Given the description of an element on the screen output the (x, y) to click on. 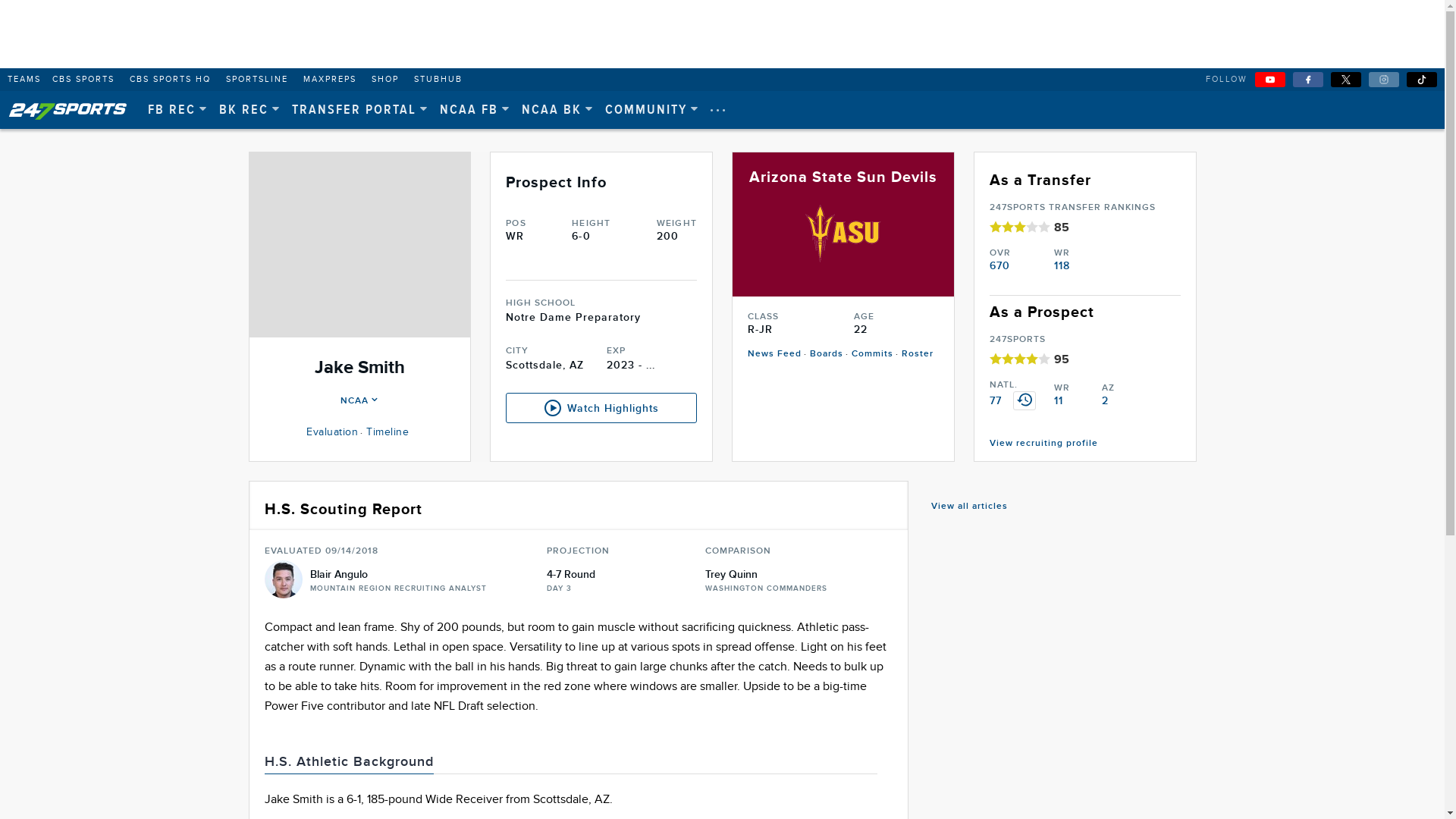
Boards Element type: text (826, 353)
2 Element type: text (1104, 400)
BlairAngulo Element type: hover (282, 579)
CBS SPORTS HQ Element type: text (169, 79)
NCAA FB Element type: text (475, 110)
MAXPREPS Element type: text (329, 79)
Trey Quinn Element type: text (766, 574)
118 Element type: text (1062, 265)
Commits Element type: text (872, 353)
Watch Highlights Element type: text (600, 407)
11 Element type: text (1058, 400)
NCAA Element type: text (359, 400)
Evaluation Element type: text (331, 431)
View all articles Element type: text (969, 505)
News Feed Element type: text (774, 353)
SHOP Element type: text (384, 79)
Timeline Element type: text (387, 431)
View recruiting profile Element type: text (1043, 442)
COMMUNITY Element type: text (651, 110)
FB REC Element type: text (177, 110)
670 Element type: text (999, 265)
Roster Element type: text (917, 353)
STUBHUB Element type: text (438, 79)
CBS SPORTS Element type: text (83, 79)
SPORTSLINE Element type: text (256, 79)
BK REC Element type: text (249, 110)
77 Element type: text (995, 400)
TEAMS Element type: text (22, 79)
TRANSFER PORTAL Element type: text (360, 110)
NCAA BK Element type: text (557, 110)
